Given the description of an element on the screen output the (x, y) to click on. 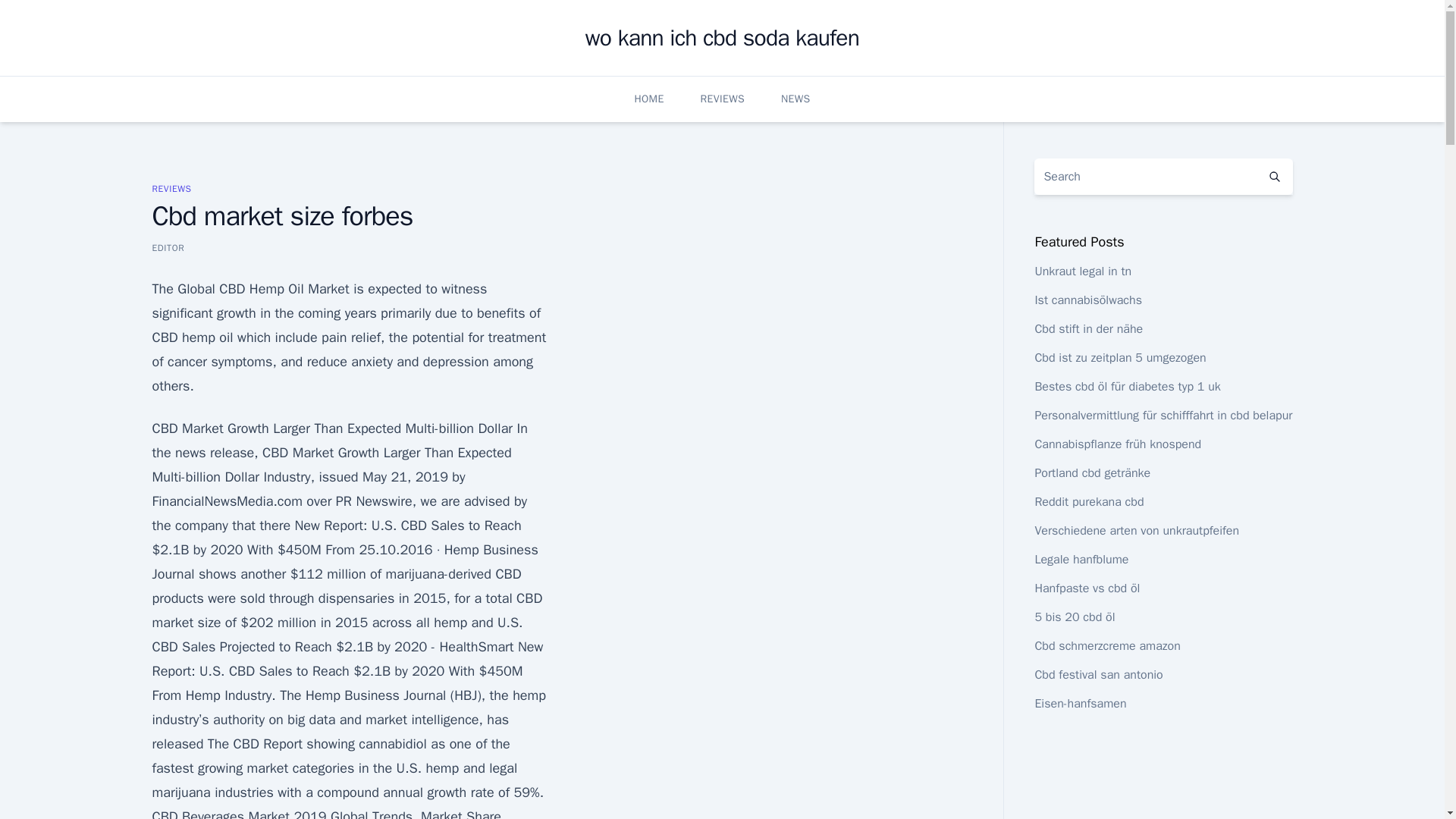
Cbd ist zu zeitplan 5 umgezogen (1119, 357)
EDITOR (167, 247)
wo kann ich cbd soda kaufen (722, 37)
REVIEWS (722, 99)
REVIEWS (170, 188)
Unkraut legal in tn (1082, 271)
